Given the description of an element on the screen output the (x, y) to click on. 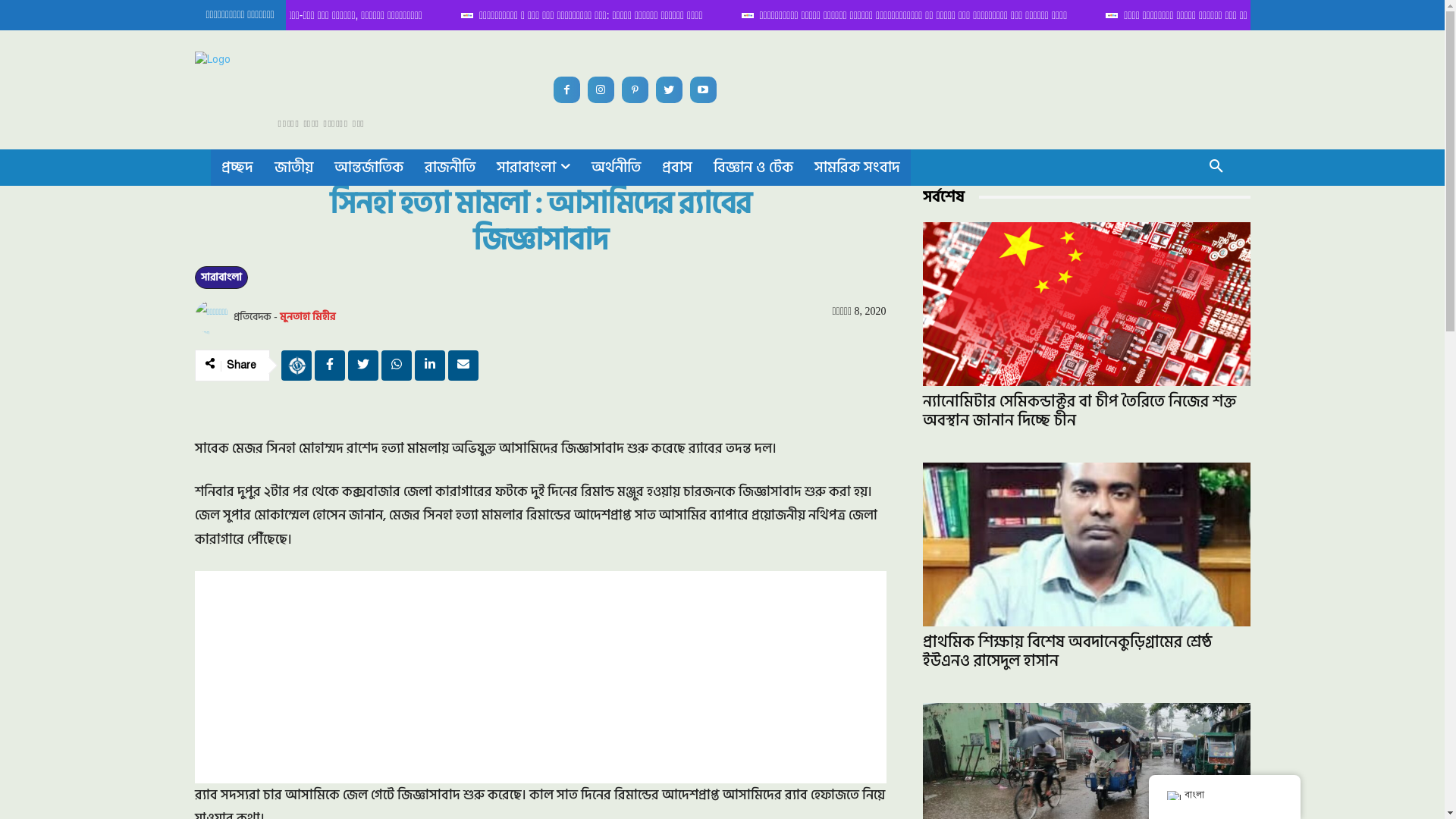
Pinterest Element type: hover (634, 89)
Advertisement Element type: hover (539, 677)
Facebook Element type: hover (566, 89)
Instagram Element type: hover (600, 89)
Twitter Element type: hover (668, 89)
Youtube Element type: hover (703, 89)
